Given the description of an element on the screen output the (x, y) to click on. 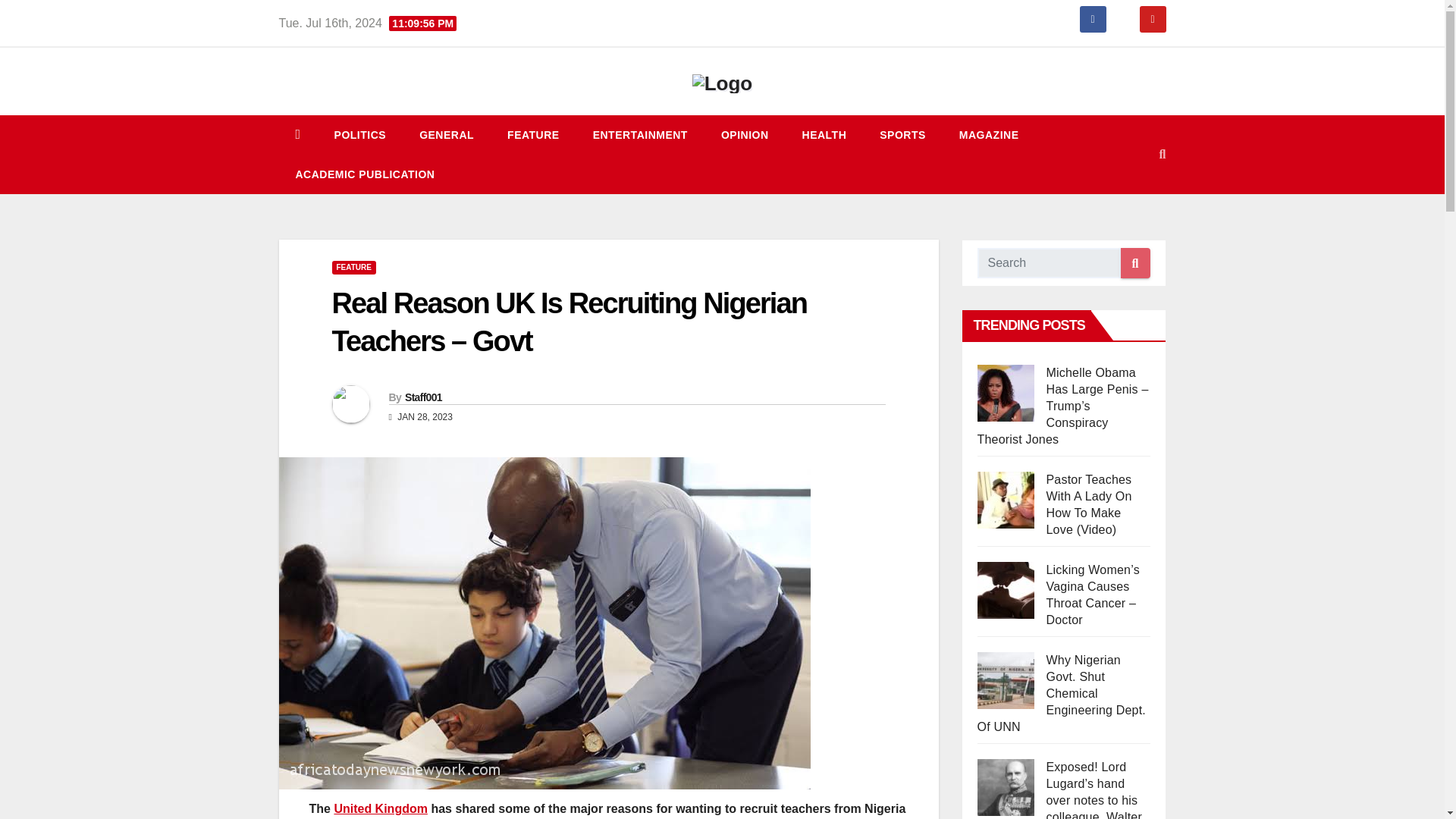
Staff001 (423, 397)
GENERAL (446, 134)
HEALTH (824, 134)
ENTERTAINMENT (640, 134)
OPINION (745, 134)
Health (824, 134)
FEATURE (533, 134)
General (446, 134)
ACADEMIC PUBLICATION (365, 174)
Magazine (988, 134)
Entertainment (640, 134)
Academic Publication (365, 174)
Sports (902, 134)
United Kingdom (380, 808)
SPORTS (902, 134)
